Given the description of an element on the screen output the (x, y) to click on. 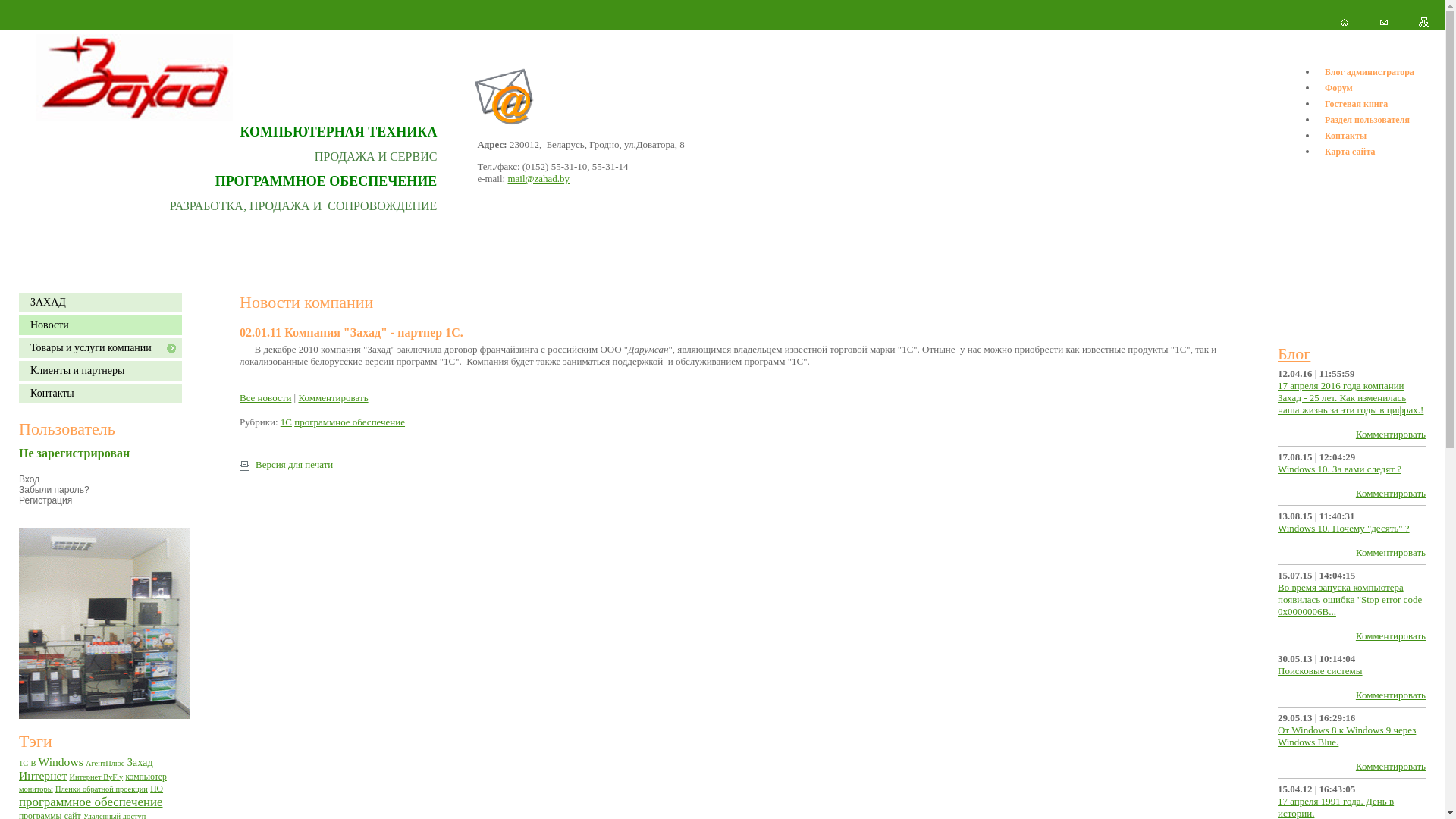
Windows Element type: text (60, 761)
1C Element type: text (23, 762)
B Element type: text (32, 762)
mail@zahad.by Element type: text (538, 178)
1C Element type: text (285, 421)
